Given the description of an element on the screen output the (x, y) to click on. 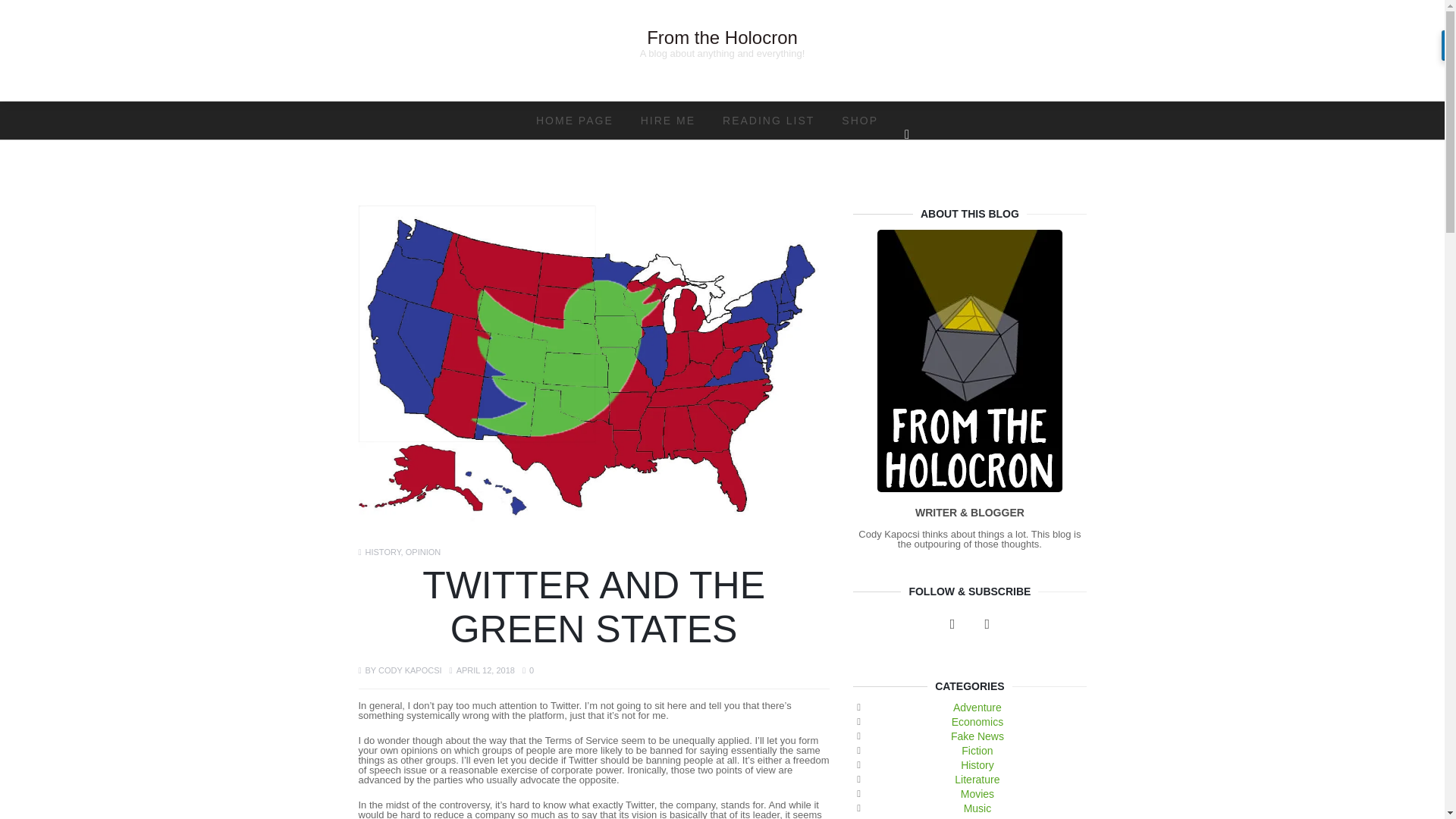
HISTORY (383, 551)
HIRE ME (668, 120)
0 (528, 669)
SHOP (859, 120)
From the Holocron (721, 37)
CODY KAPOCSI (410, 669)
View all posts in History (383, 551)
View all posts in Opinion (423, 551)
HOME PAGE (574, 120)
OPINION (423, 551)
